Given the description of an element on the screen output the (x, y) to click on. 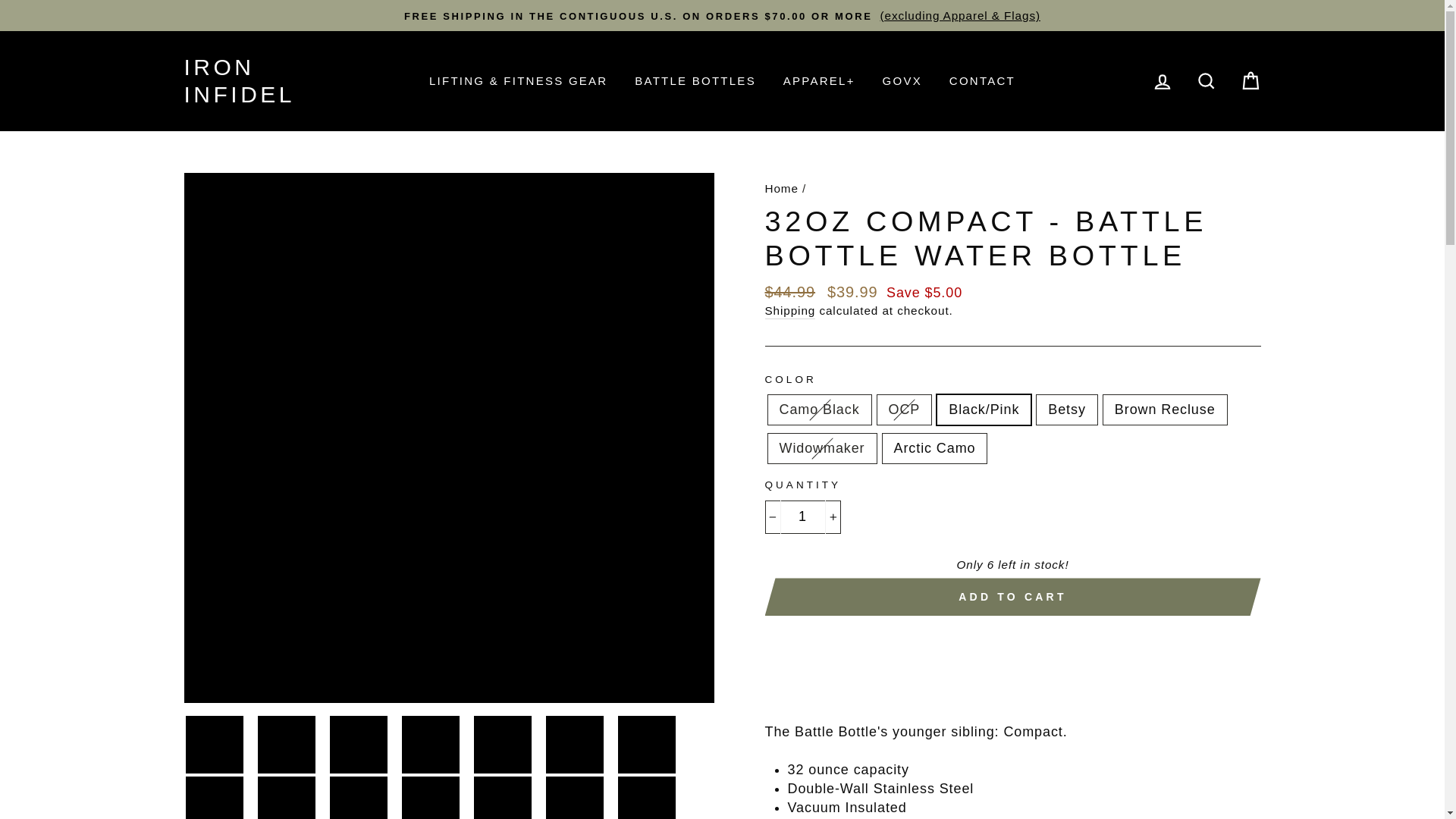
1 (802, 516)
Back to the frontpage (780, 187)
